Given the description of an element on the screen output the (x, y) to click on. 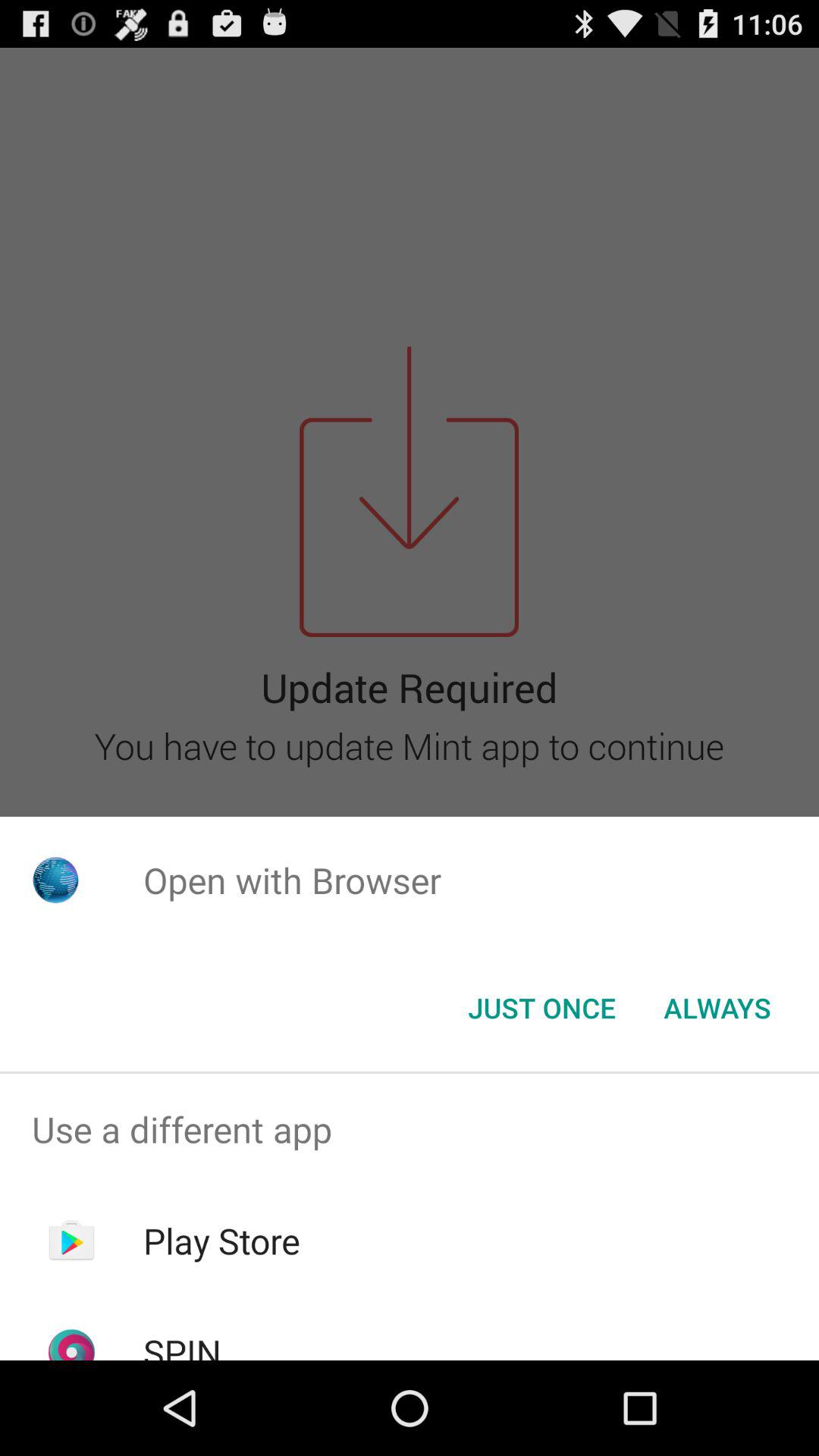
press icon at the bottom right corner (717, 1007)
